Given the description of an element on the screen output the (x, y) to click on. 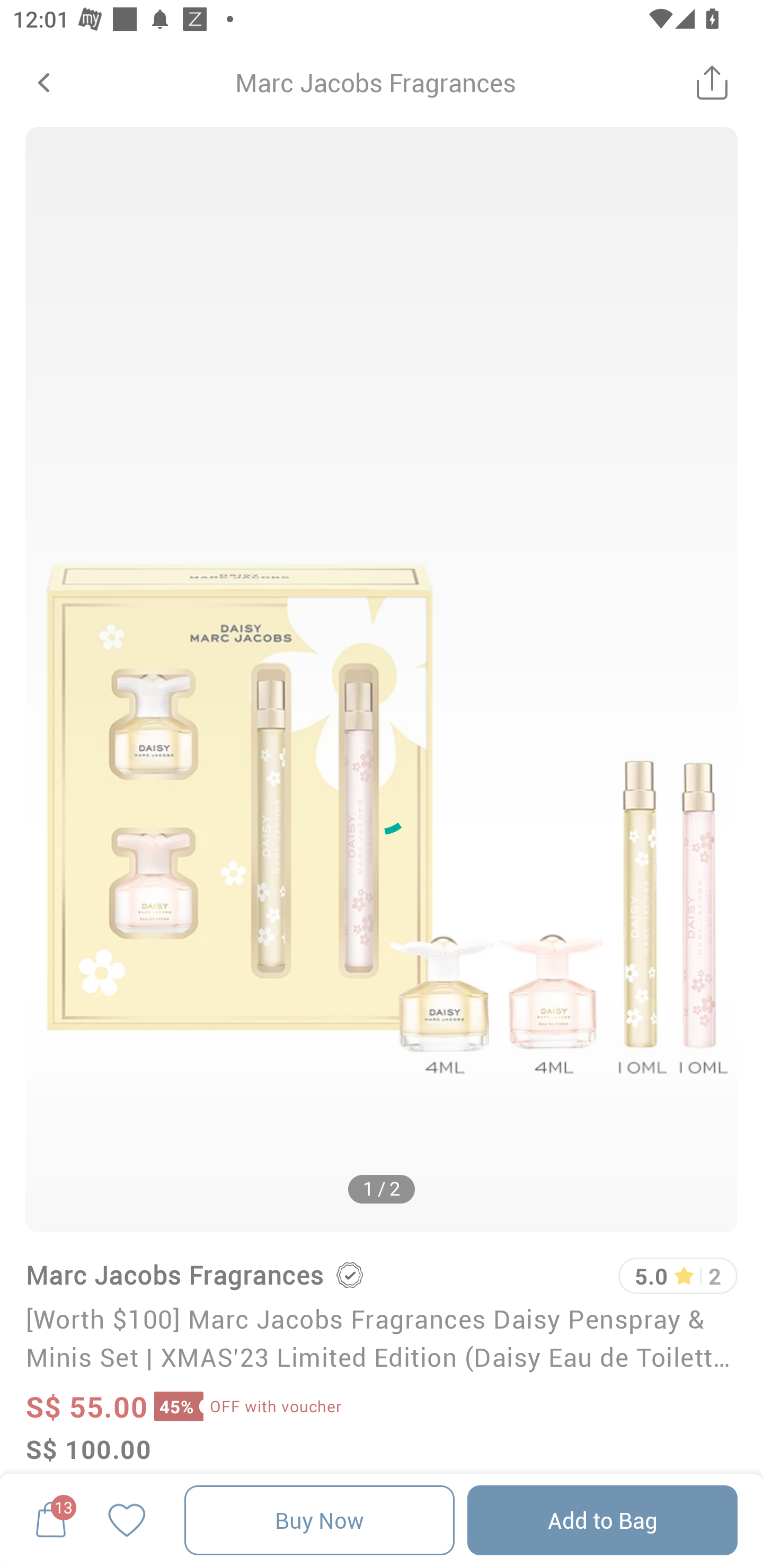
Marc Jacobs Fragrances (375, 82)
Share this Product (711, 82)
Marc Jacobs Fragrances (174, 1274)
5.0 2 (677, 1275)
Buy Now (319, 1519)
Add to Bag (601, 1519)
13 (50, 1520)
